Given the description of an element on the screen output the (x, y) to click on. 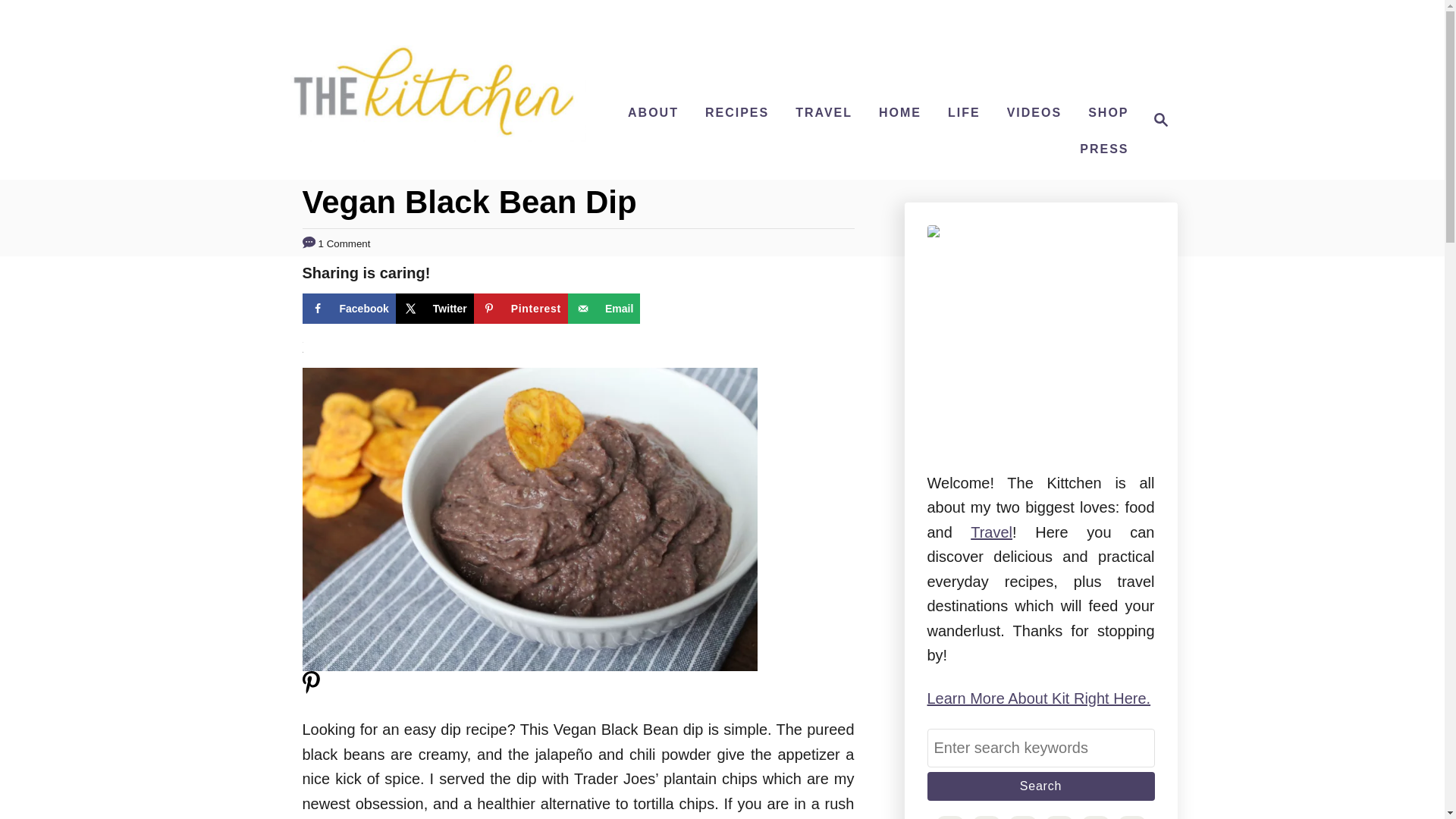
ABOUT (652, 112)
RECIPES (736, 112)
Send over email (603, 308)
LIFE (964, 112)
Email (603, 308)
thekittchen (433, 89)
Facebook (347, 308)
Share on Facebook (347, 308)
Search (1040, 786)
